Given the description of an element on the screen output the (x, y) to click on. 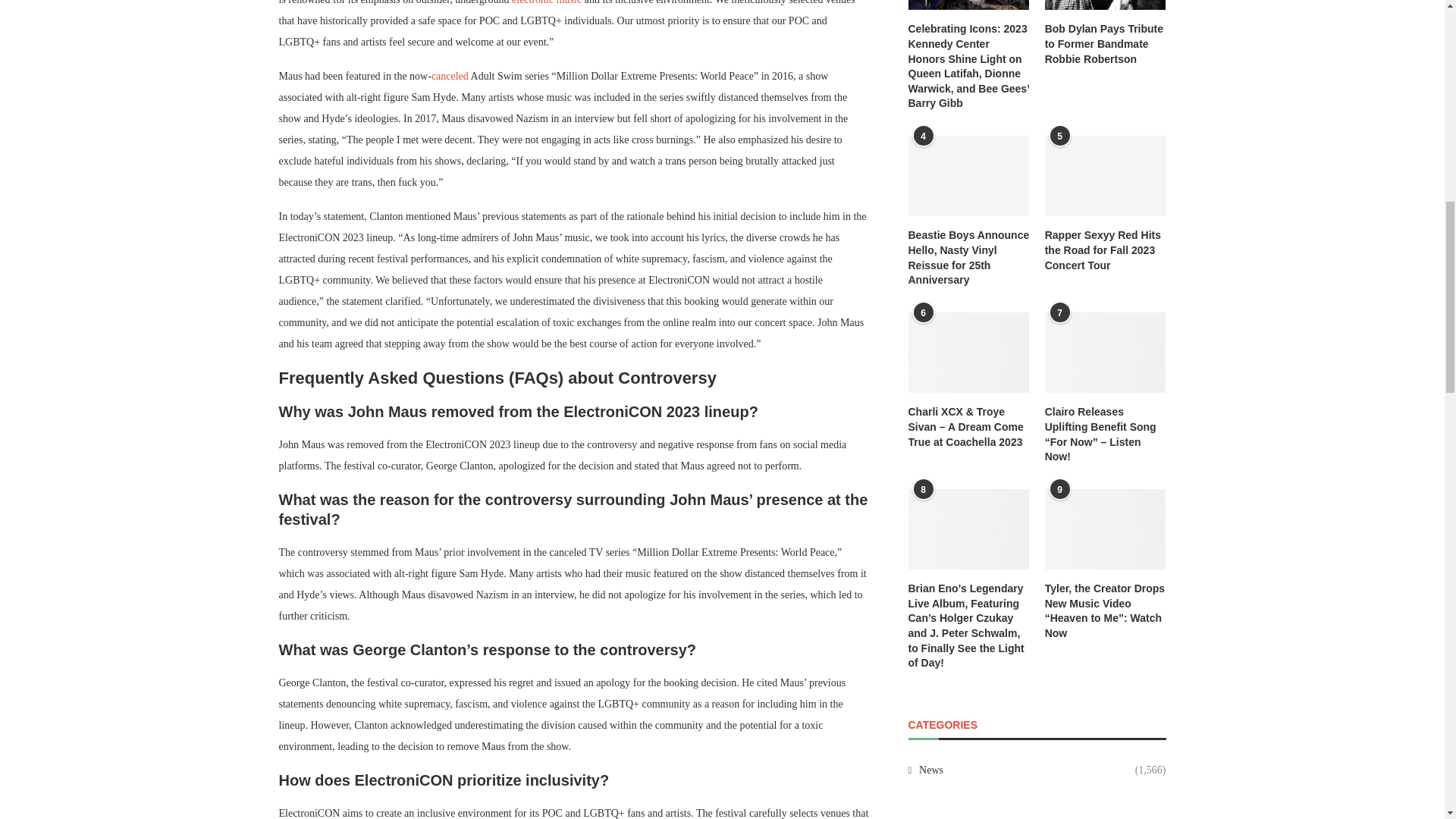
electronic music (546, 2)
Octo Octa Announces New Dreams of a Dancefloor EP (546, 2)
Feeble Little Horse Cancel Summer 2023 North American Tour (449, 75)
canceled (449, 75)
